Given the description of an element on the screen output the (x, y) to click on. 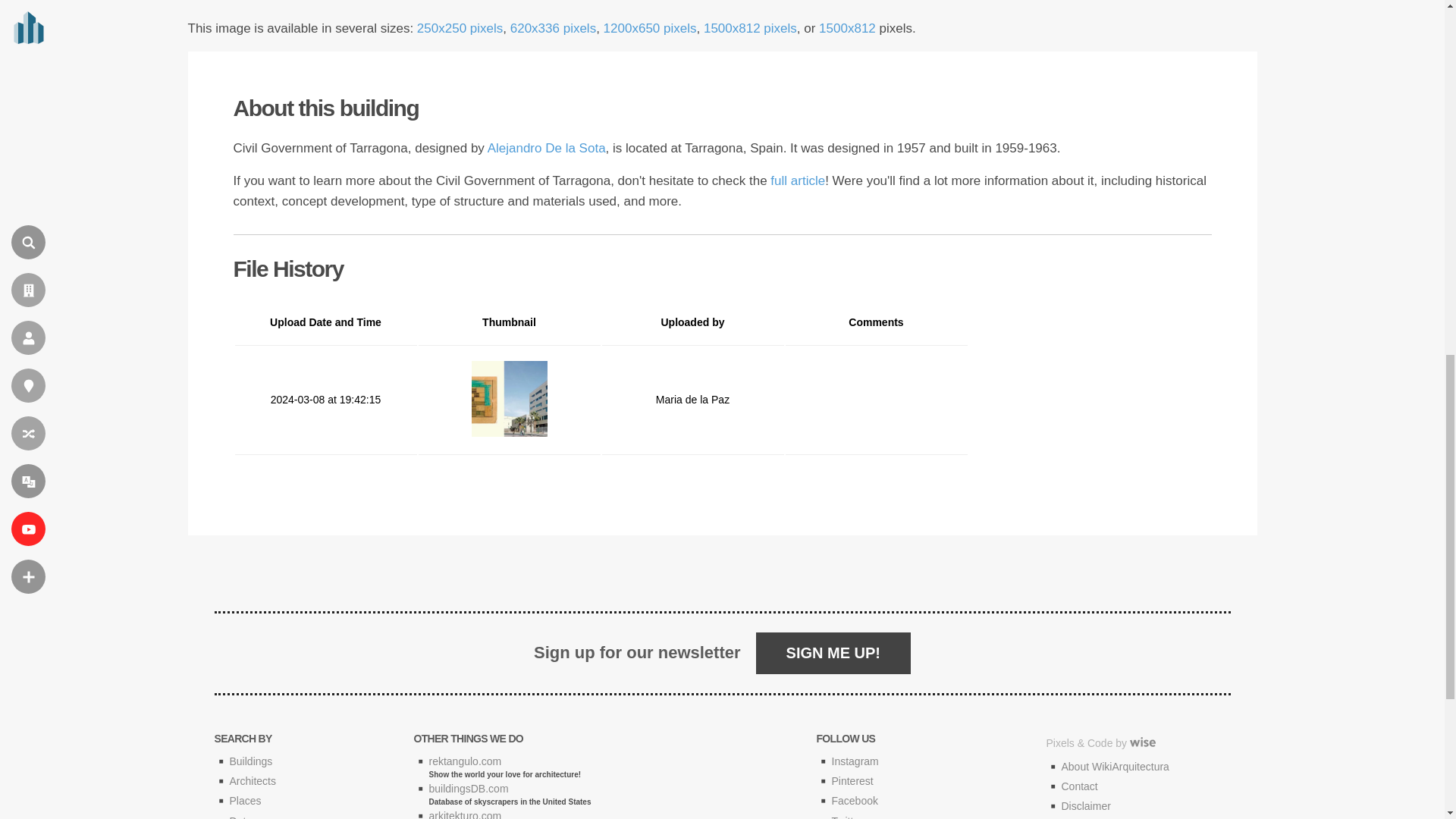
1500x812 pixels (749, 28)
Architects (251, 780)
Buildings (250, 761)
1200x650 pixels (650, 28)
250x250 pixels (459, 28)
full article (797, 180)
1500x812 (847, 28)
620x336 pixels (553, 28)
Alejandro De la Sota (546, 147)
SIGN ME UP! (833, 653)
